Given the description of an element on the screen output the (x, y) to click on. 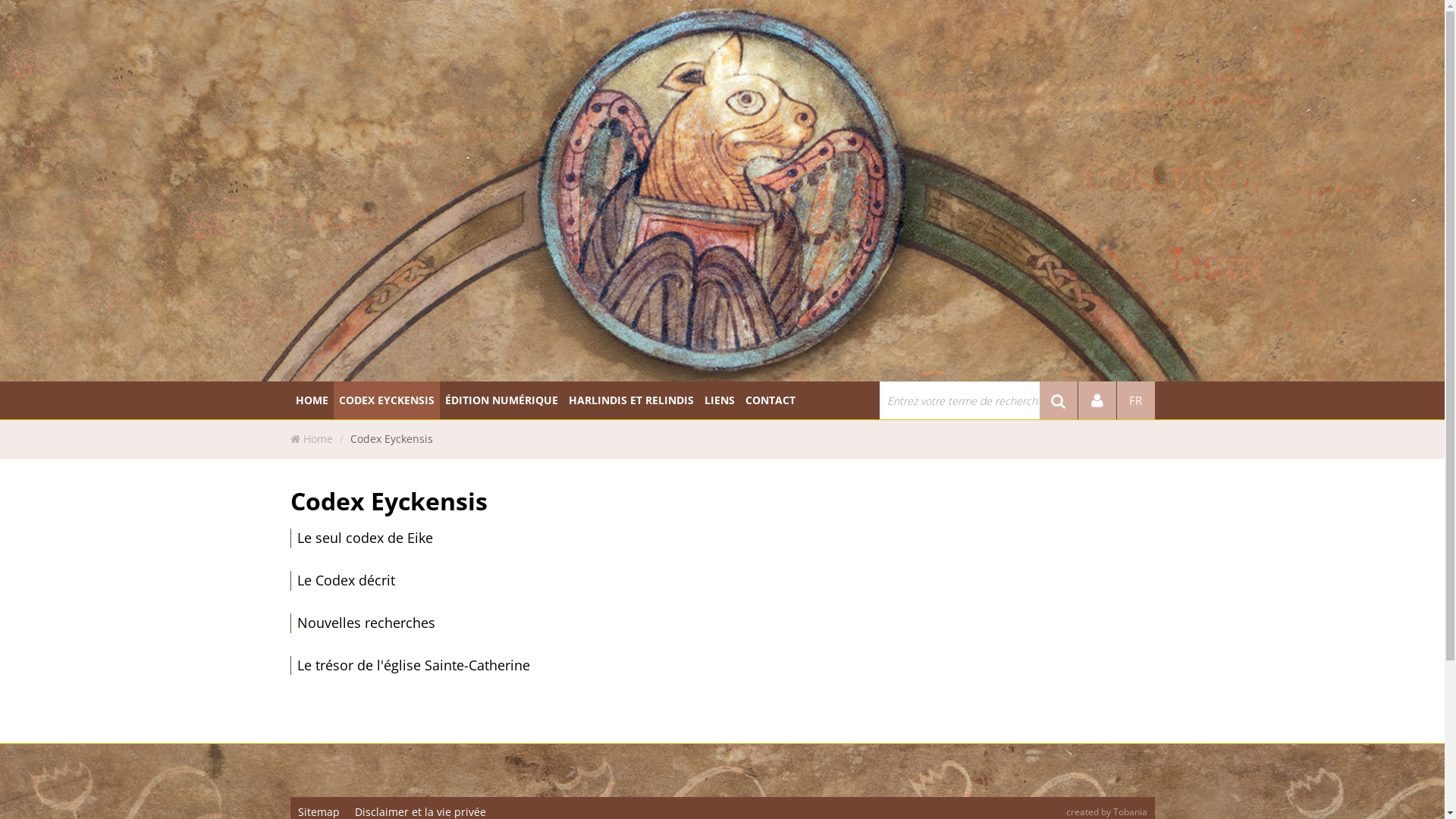
CODEX EYCKENSIS Element type: text (386, 400)
LIENS Element type: text (719, 400)
Aanmelden Element type: text (1097, 400)
Nouvelles recherches Element type: text (366, 622)
FR Element type: text (1135, 400)
Le seul codex de Eike Element type: text (365, 537)
CONTACT Element type: text (770, 400)
HOME Element type: text (310, 400)
Home Element type: text (317, 438)
HARLINDIS ET RELINDIS Element type: text (630, 400)
ZOEK Element type: text (1057, 400)
